Given the description of an element on the screen output the (x, y) to click on. 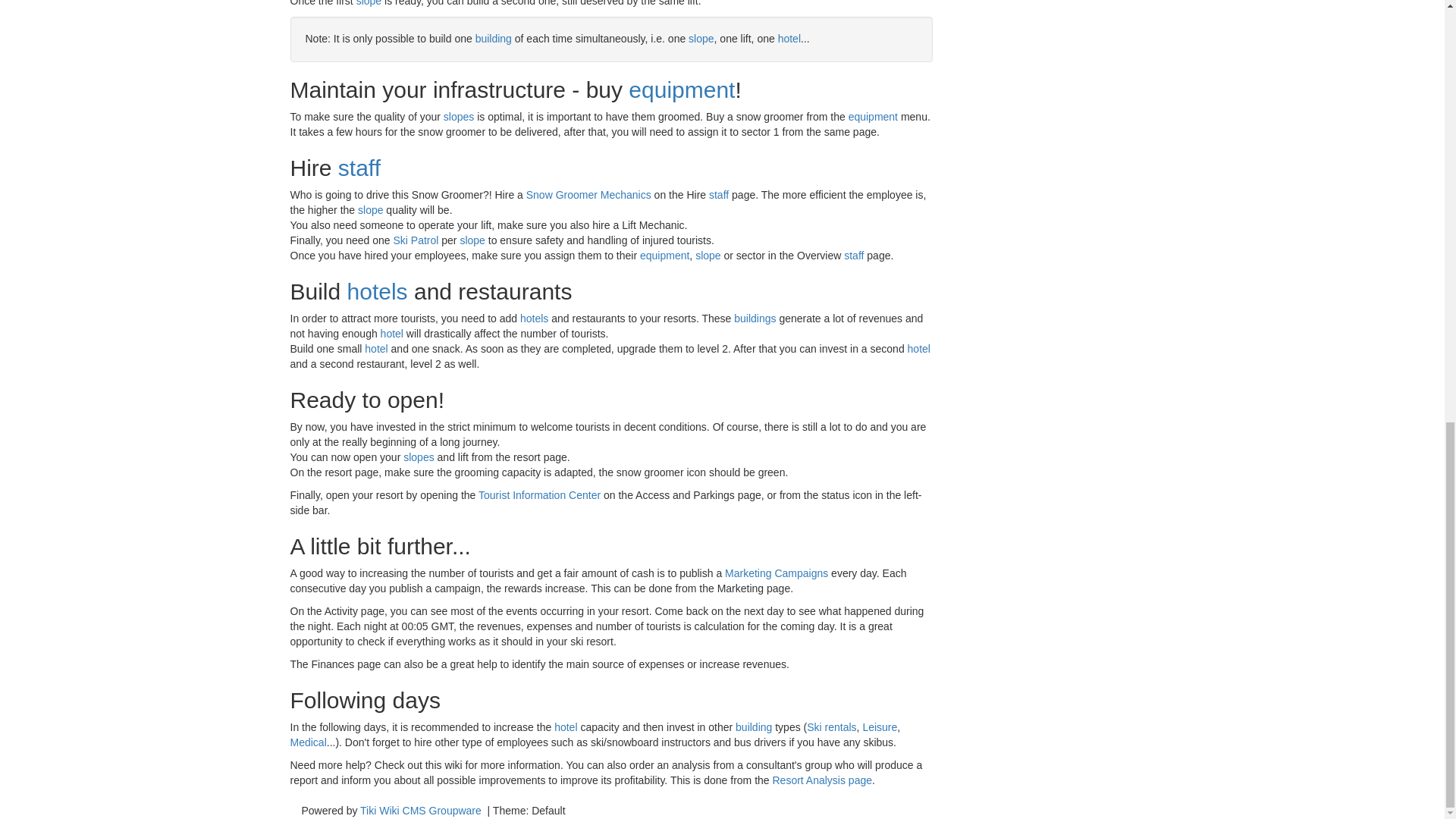
slope (700, 38)
Snow Groomer Mechanics (587, 194)
building (494, 38)
hotel (788, 38)
slopes (459, 116)
staff (358, 167)
equipment (873, 116)
slope (368, 3)
equipment (681, 89)
